Given the description of an element on the screen output the (x, y) to click on. 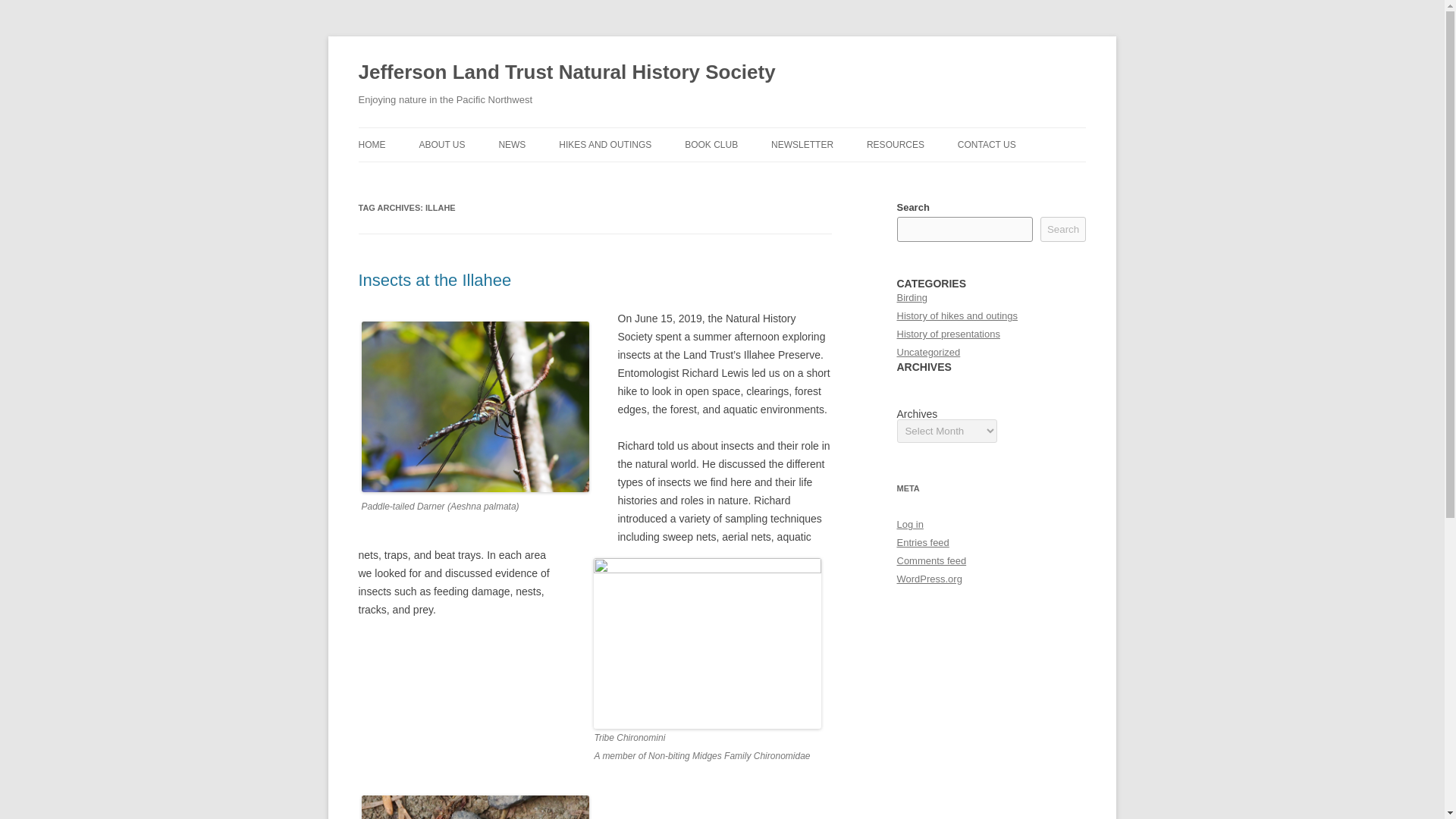
HIKES AND OUTINGS (604, 144)
BOOK CLUB (711, 144)
ABOUT US (441, 144)
History of hikes and outings (956, 315)
NEWSLETTER (801, 144)
RESOURCES (895, 144)
Insects at the Illahee (434, 280)
Entries feed (922, 542)
WordPress.org (928, 578)
History of presentations (947, 333)
Comments feed (931, 560)
Birding (911, 297)
Jefferson Land Trust Natural History Society (566, 72)
Search (1063, 229)
